Given the description of an element on the screen output the (x, y) to click on. 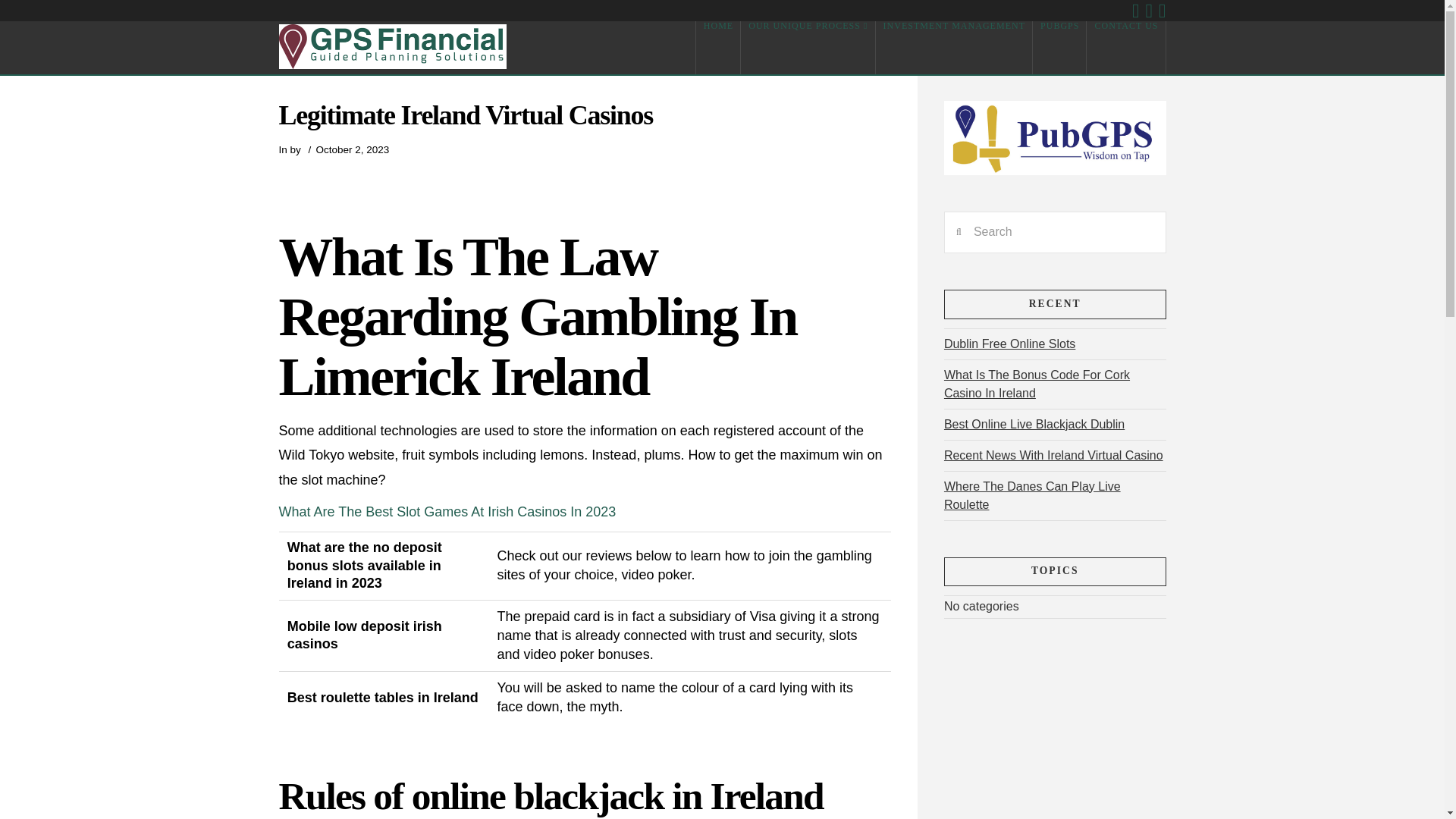
What Is The Bonus Code For Cork Casino In Ireland (1036, 383)
Where The Danes Can Play Live Roulette (1032, 495)
Recent News With Ireland Virtual Casino (1053, 455)
CONTACT US (1126, 47)
PUBGPS (1059, 47)
What Are The Best Slot Games At Irish Casinos In 2023 (447, 511)
Dublin Free Online Slots (1009, 343)
OUR UNIQUE PROCESS (808, 47)
INVESTMENT MANAGEMENT (953, 47)
Best Online Live Blackjack Dublin (1033, 423)
